Given the description of an element on the screen output the (x, y) to click on. 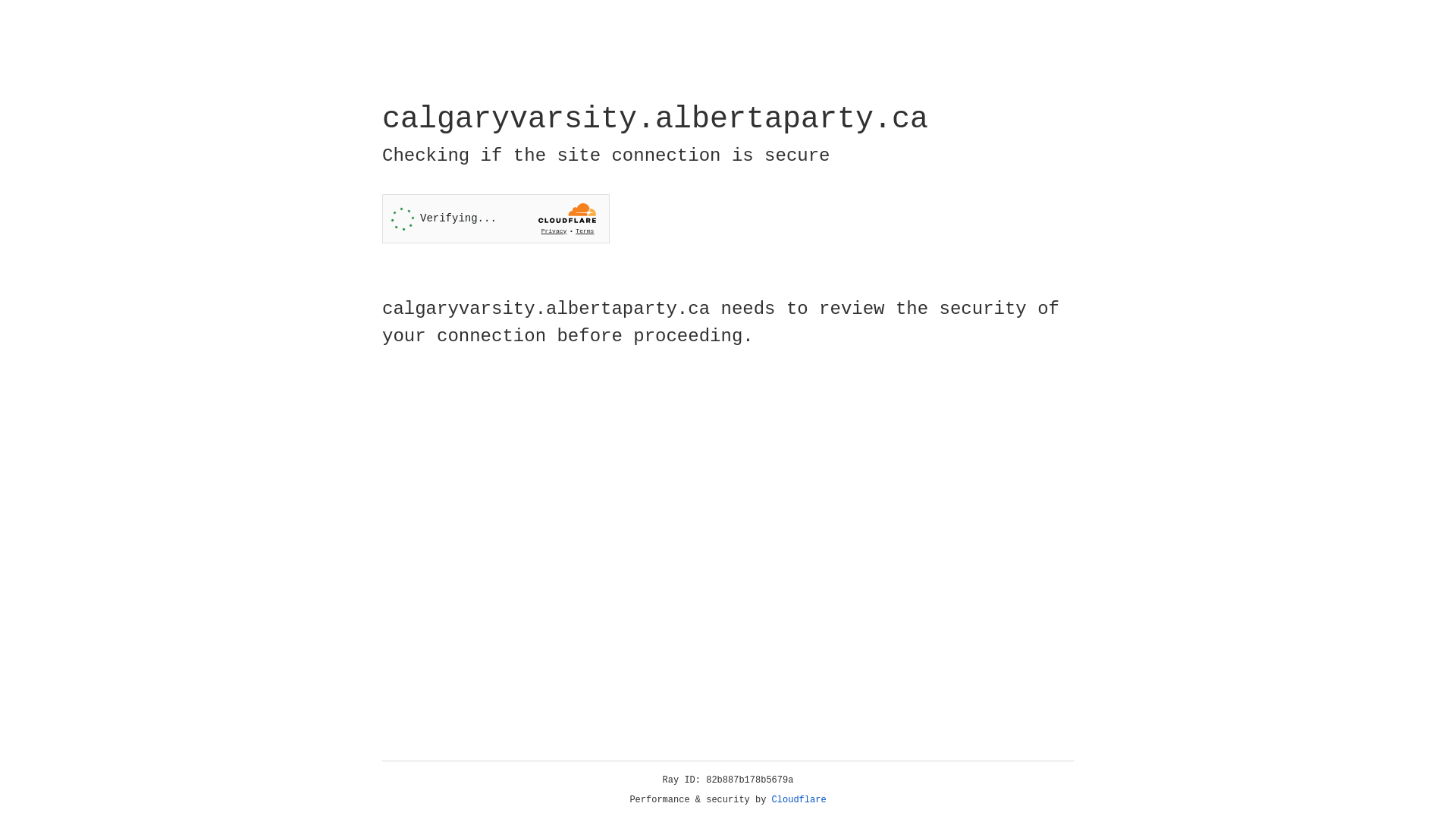
Widget containing a Cloudflare security challenge Element type: hover (495, 218)
Cloudflare Element type: text (798, 799)
